Given the description of an element on the screen output the (x, y) to click on. 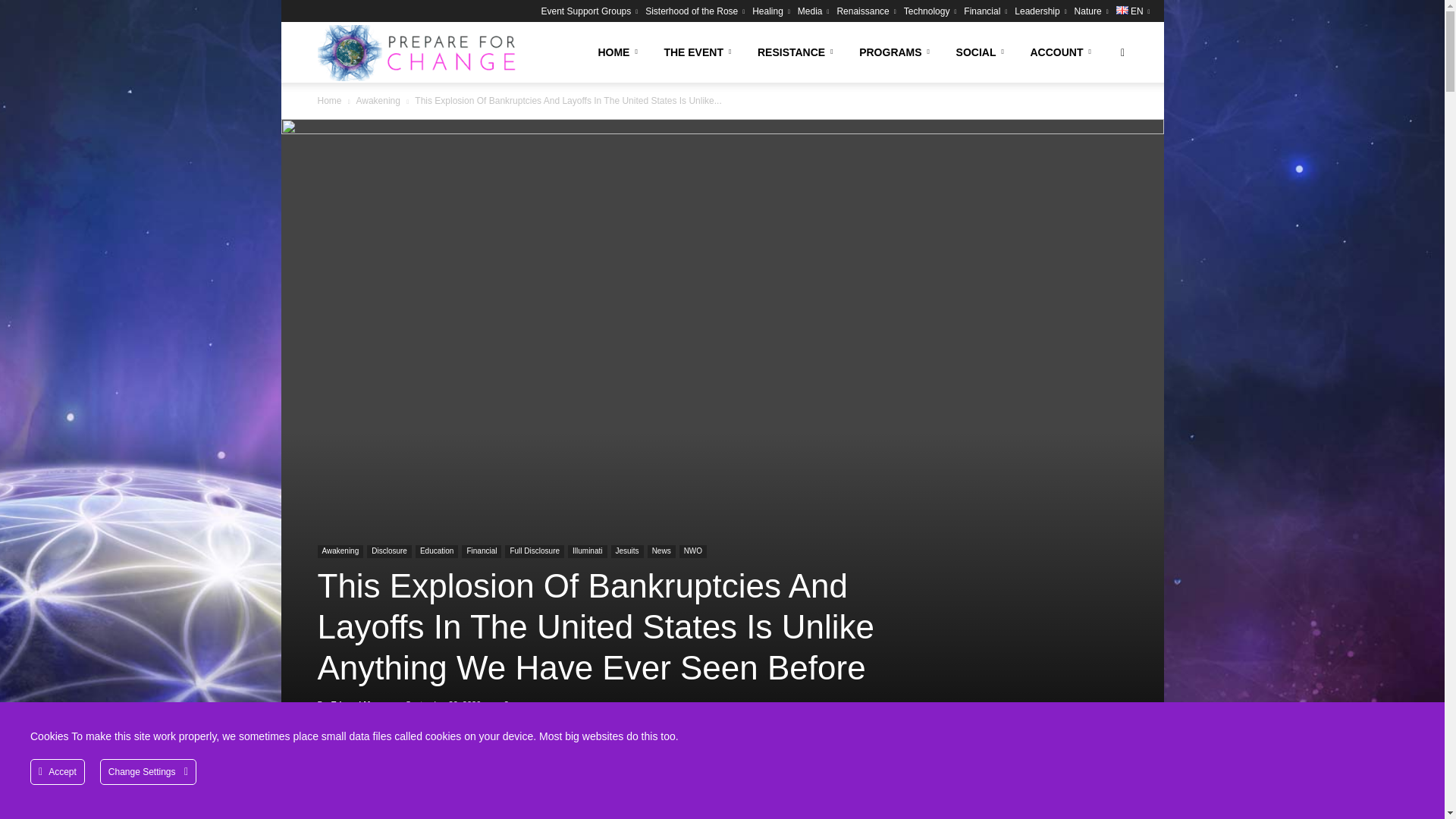
Facebook (309, 785)
ReddIt (448, 785)
WhatsApp (413, 785)
VK (518, 785)
View all posts in Awakening (377, 100)
Email (553, 785)
Telegram (588, 785)
Twitter (344, 785)
Linkedin (483, 785)
Pinterest (379, 785)
